Given the description of an element on the screen output the (x, y) to click on. 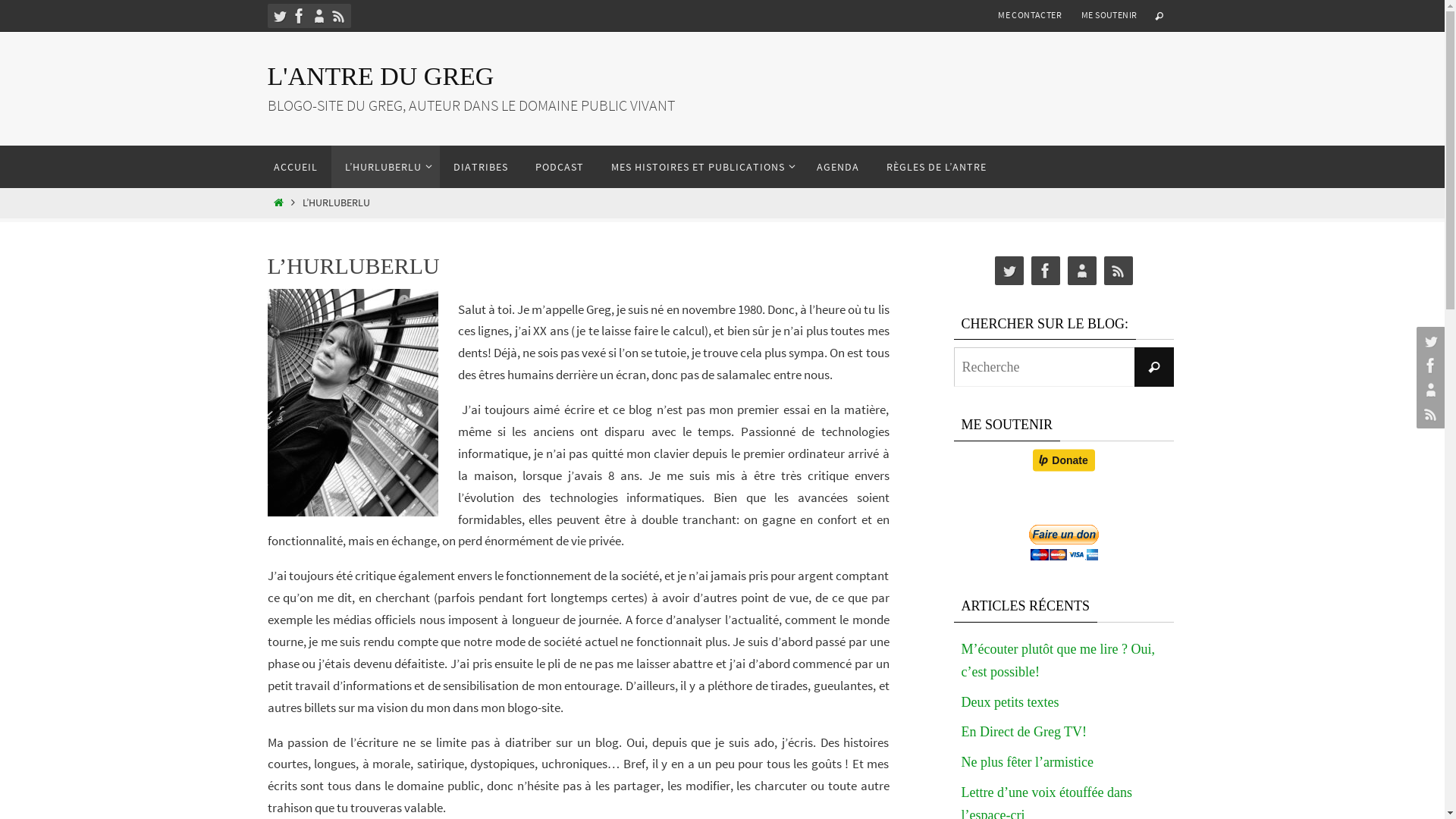
AGENDA Element type: text (837, 166)
Recherche Element type: text (1153, 366)
Facebook Element type: hover (1428, 365)
Twitter Element type: hover (1008, 270)
ME SOUTENIR Element type: text (1108, 15)
ACCUEIL Element type: text (294, 166)
L'ANTRE DU GREG Element type: text (379, 76)
AboutMe Element type: hover (1428, 389)
HOME Element type: text (278, 202)
PODCAST Element type: text (559, 166)
RSS Element type: hover (1118, 270)
Facebook Element type: hover (1045, 270)
MES HISTOIRES ET PUBLICATIONS Element type: text (700, 166)
Twitter Element type: hover (1428, 340)
RSS Element type: hover (1428, 413)
Facebook Element type: hover (298, 15)
AboutMe Element type: hover (1081, 270)
Deux petits textes Element type: text (1010, 702)
Twitter Element type: hover (278, 15)
En Direct de Greg TV! Element type: text (1024, 732)
RSS Element type: hover (338, 15)
ME CONTACTER Element type: text (1029, 15)
DIATRIBES Element type: text (480, 166)
AboutMe Element type: hover (318, 15)
